Given the description of an element on the screen output the (x, y) to click on. 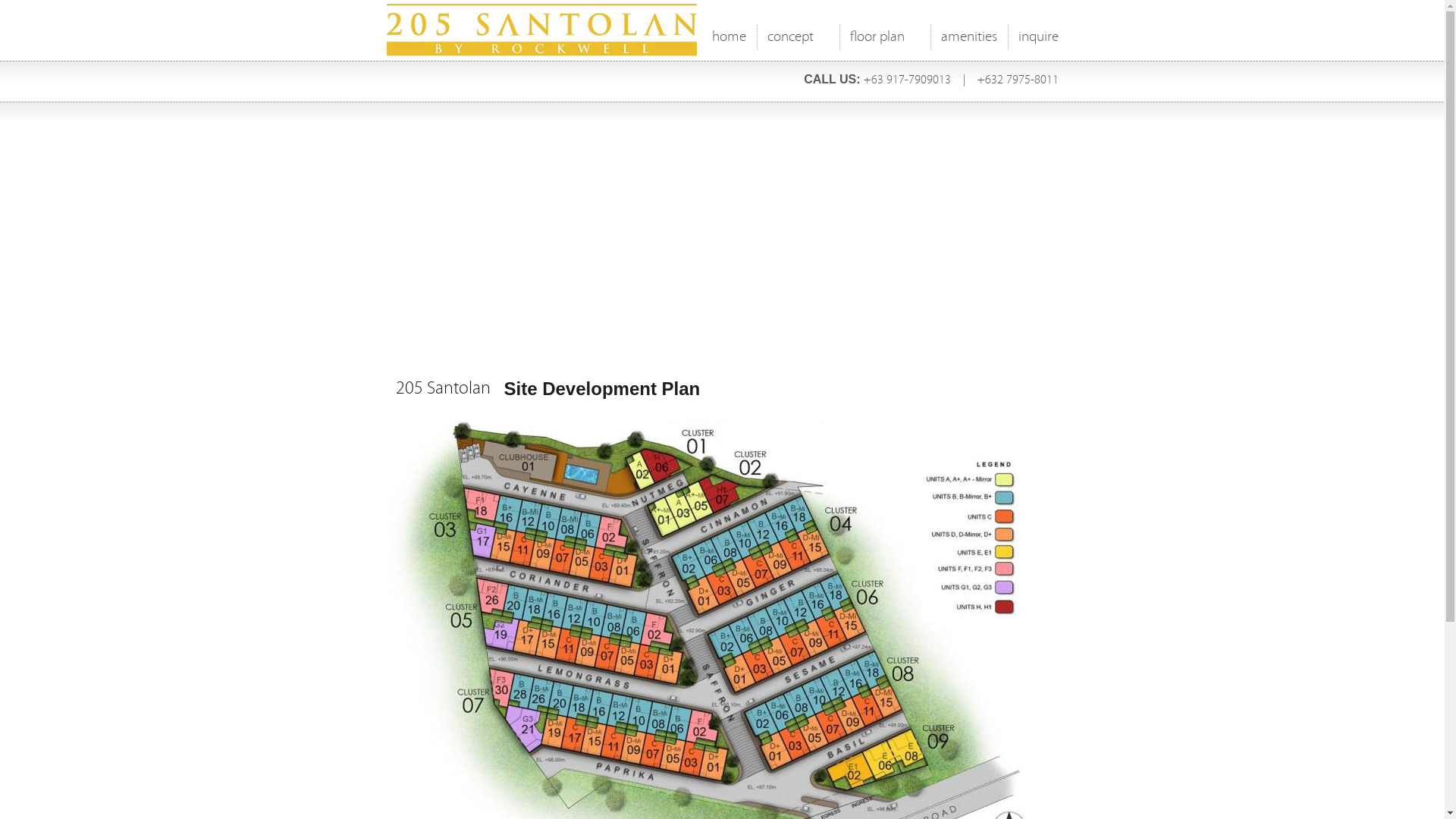
inquire Element type: text (1037, 40)
concept Element type: text (797, 40)
floor plan Element type: text (884, 40)
home Element type: text (728, 40)
amenities Element type: text (968, 40)
205 Santolan by Rockwell Element type: text (439, 31)
